Given the description of an element on the screen output the (x, y) to click on. 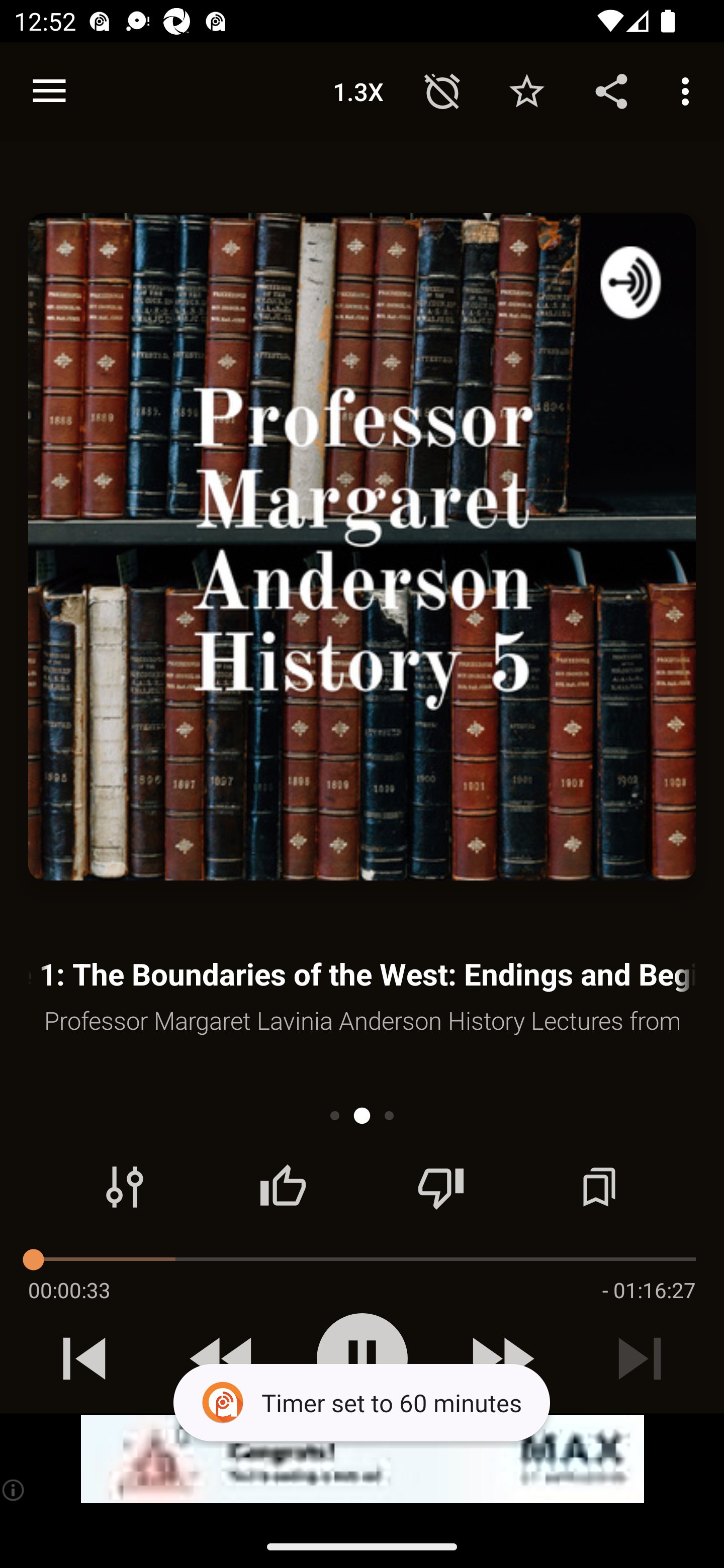
Open navigation sidebar (49, 91)
1.3X (357, 90)
Sleep Timer (442, 90)
Favorite (526, 90)
Share (611, 90)
More options (688, 90)
Episode description (361, 547)
Audio effects (124, 1186)
Thumbs up (283, 1186)
Thumbs down (440, 1186)
Chapters / Bookmarks (598, 1186)
- 01:16:28 (648, 1289)
Previous track (84, 1358)
Next track (639, 1358)
app-monetization (362, 1459)
(i) (14, 1489)
